Given the description of an element on the screen output the (x, y) to click on. 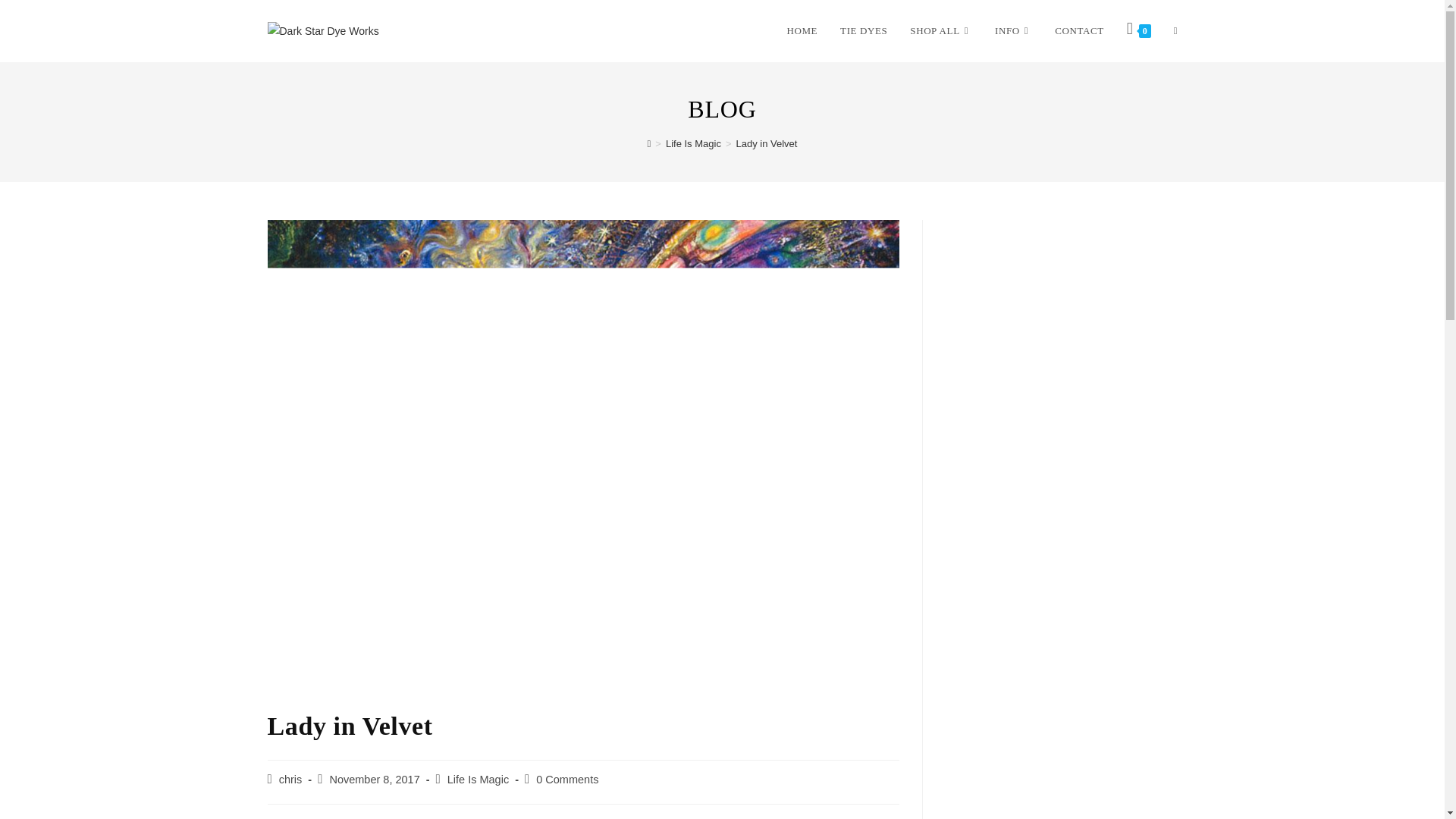
Lady in Velvet (765, 143)
Life Is Magic (692, 143)
chris (290, 779)
Posts by chris (290, 779)
CONTACT (1079, 30)
HOME (801, 30)
TIE DYES (863, 30)
INFO (1013, 30)
SHOP ALL (941, 30)
